Given the description of an element on the screen output the (x, y) to click on. 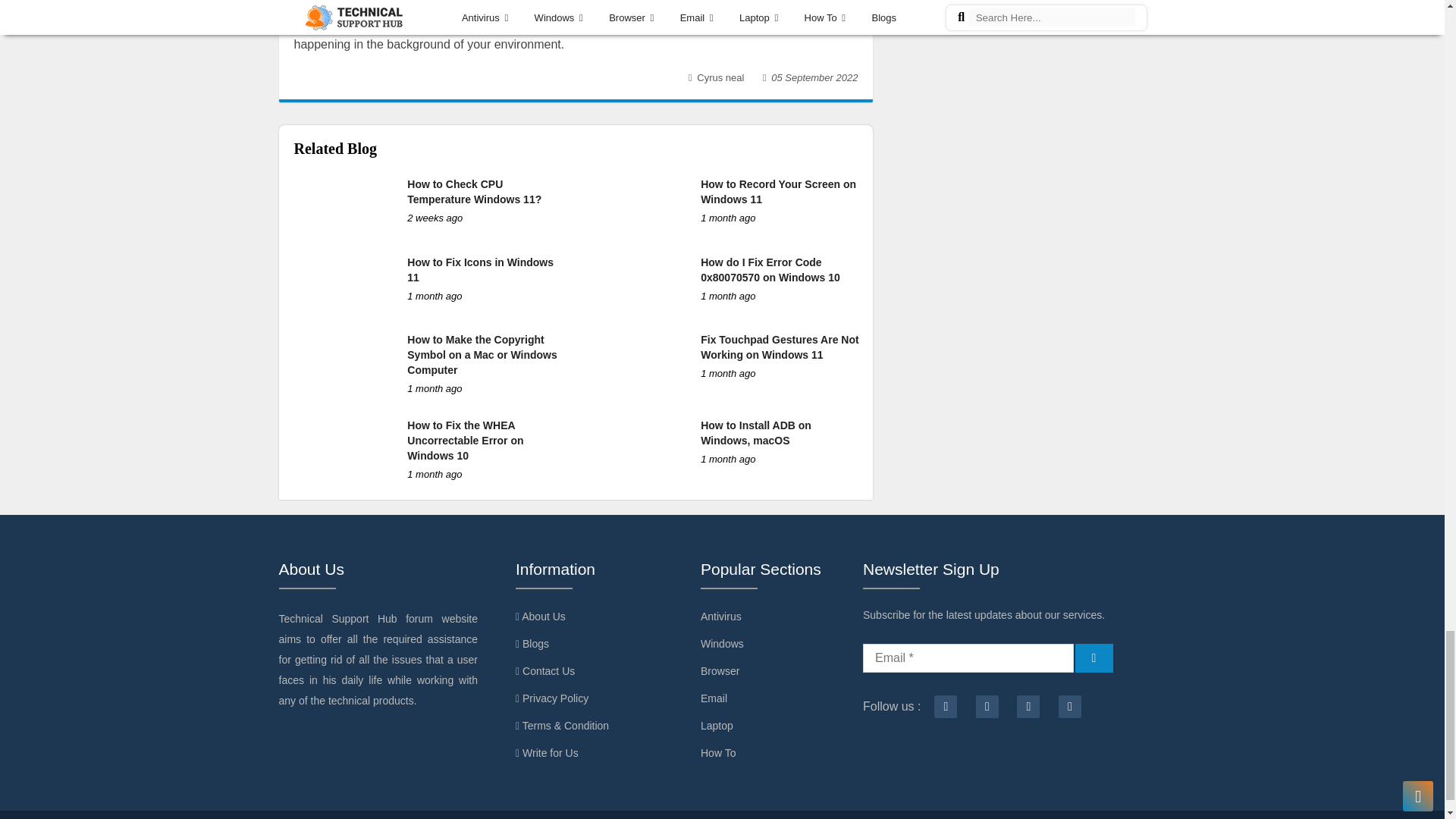
Fix Touchpad Gestures Are Not Working on Windows 11 (779, 347)
How do I Fix Error Code 0x80070570 on Windows 10 (770, 269)
How to Fix the WHEA Uncorrectable Error on Windows 10 (464, 440)
How to Install ADB on Windows, macOS (755, 432)
How to Check CPU Temperature Windows 11? (474, 191)
How to Fix Icons in Windows 11 (480, 269)
How to Record Your Screen on Windows 11 (778, 191)
